Given the description of an element on the screen output the (x, y) to click on. 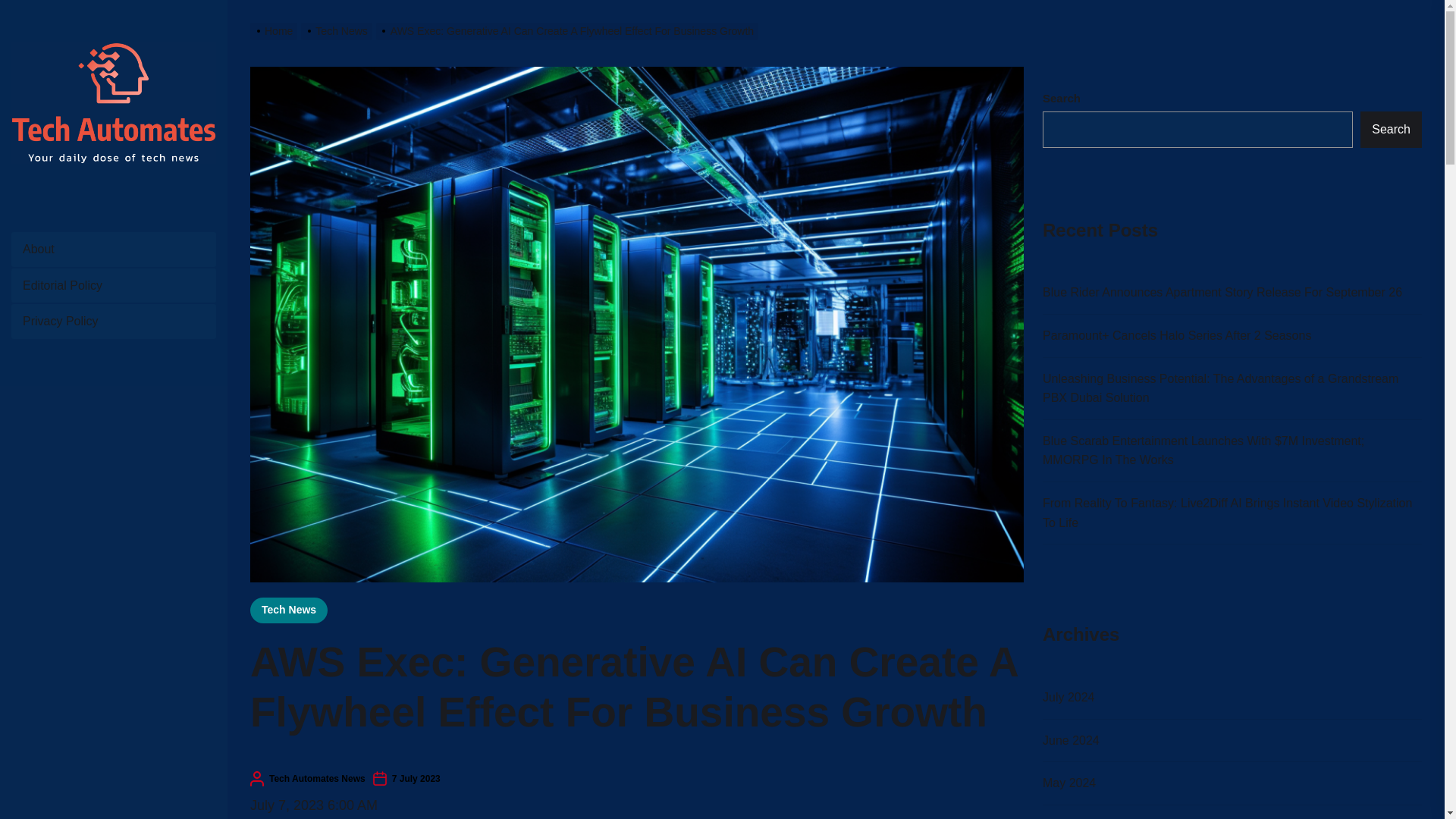
Tech News (338, 30)
Editorial Policy (113, 285)
Privacy Policy (113, 321)
Tech News (288, 610)
7 July 2023 (416, 778)
About (113, 248)
Home (275, 30)
Tech Automates News (317, 778)
